Given the description of an element on the screen output the (x, y) to click on. 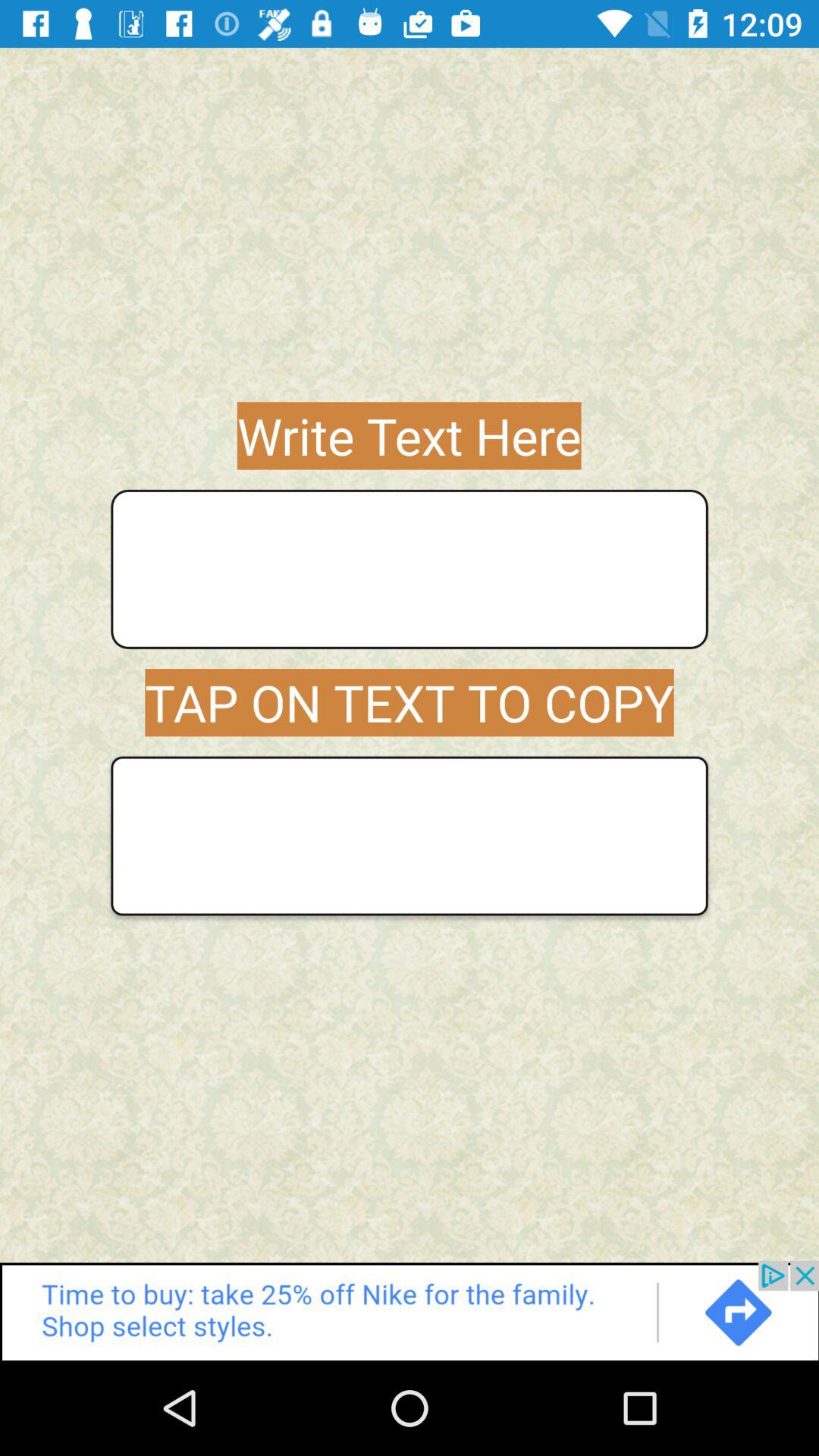
blank page (409, 835)
